Given the description of an element on the screen output the (x, y) to click on. 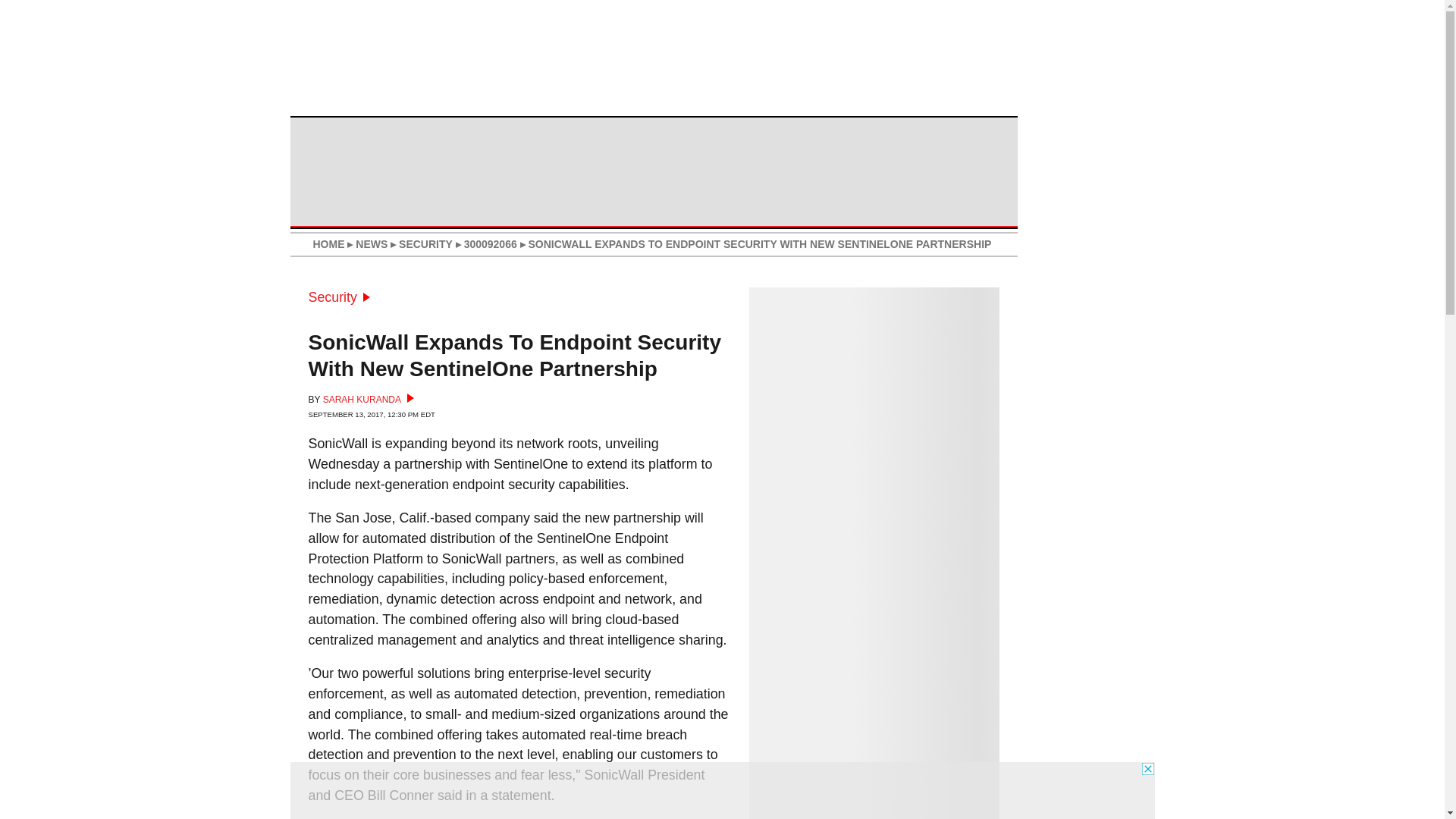
Security (338, 296)
SARAH KURANDA (368, 398)
HOME (328, 244)
Security (338, 296)
